Given the description of an element on the screen output the (x, y) to click on. 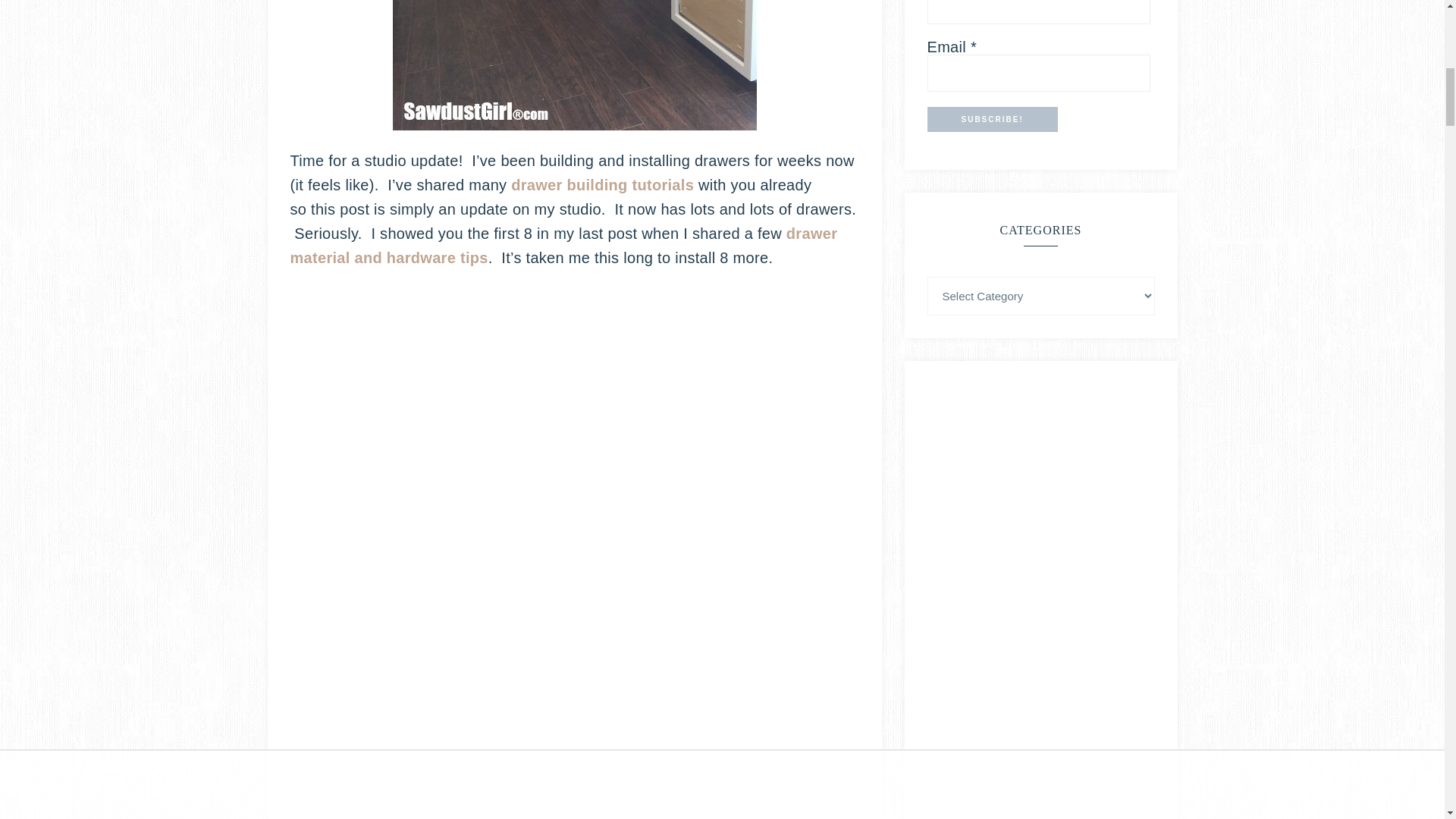
Email (1038, 72)
First name (1038, 12)
Subscribe! (991, 119)
